Given the description of an element on the screen output the (x, y) to click on. 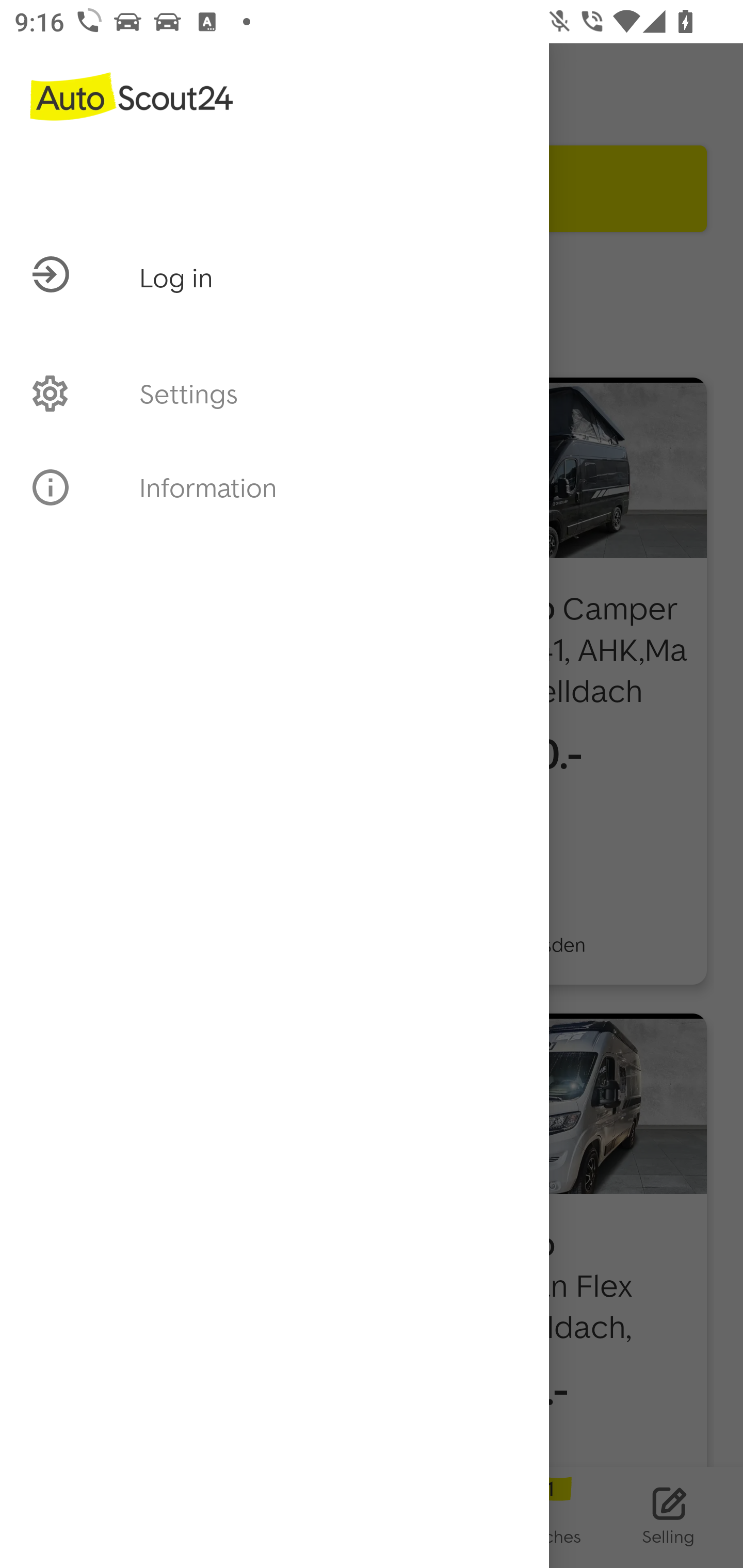
PROFILE Settings (274, 393)
INFO Information (274, 487)
